Given the description of an element on the screen output the (x, y) to click on. 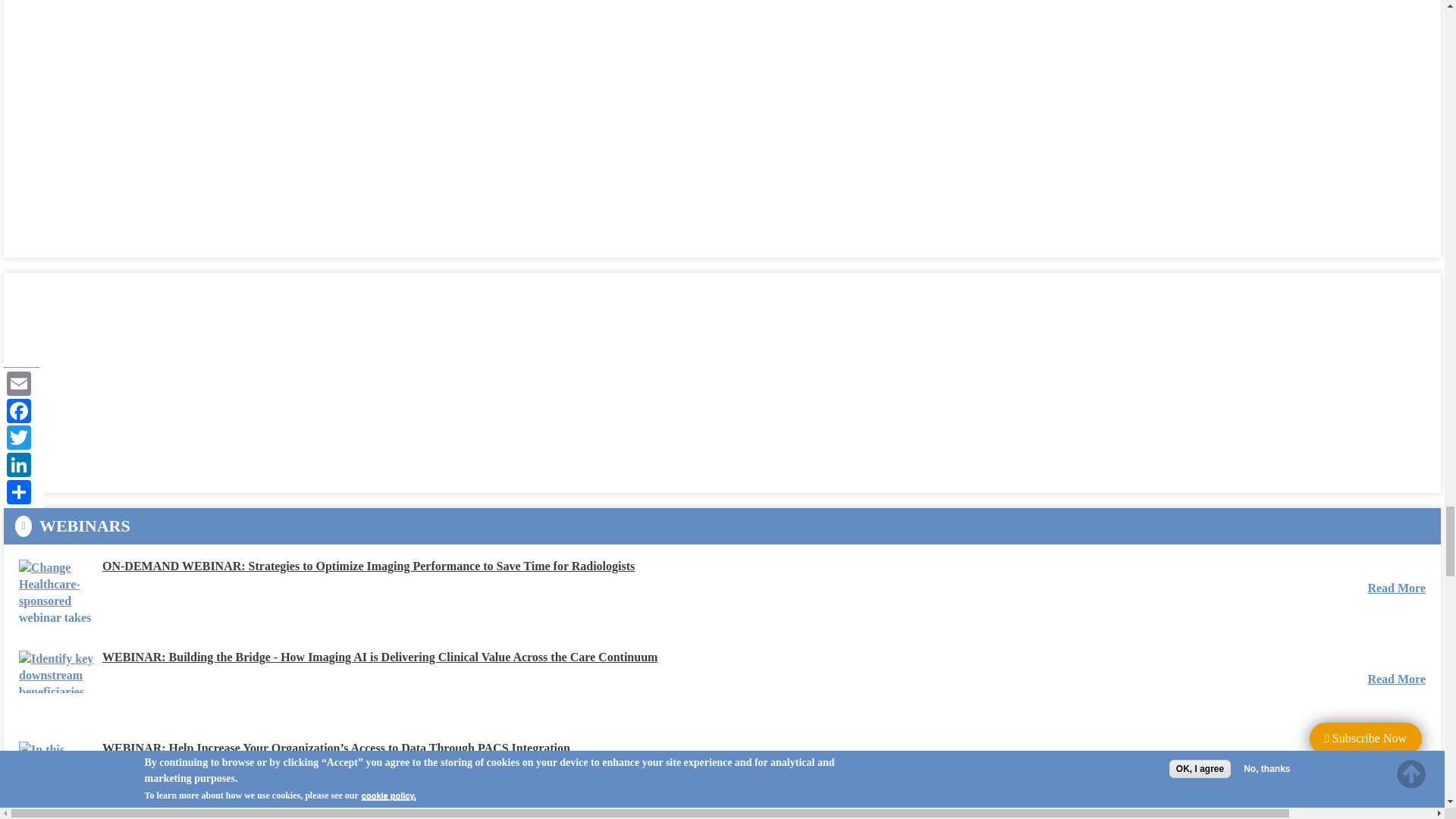
3rd party ad content (132, 382)
3rd party ad content (132, 121)
